Given the description of an element on the screen output the (x, y) to click on. 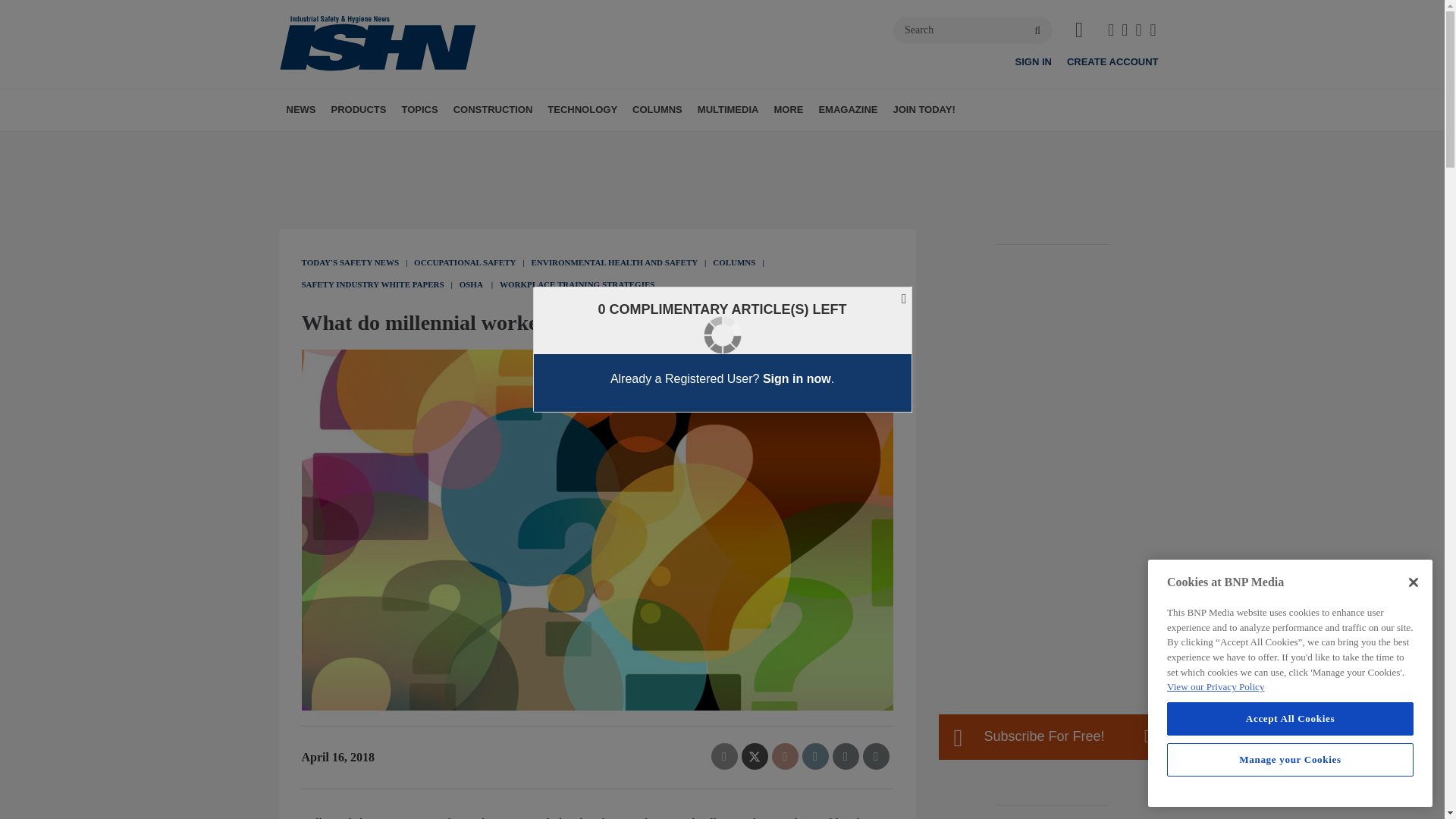
Search (972, 30)
Search (972, 30)
